Given the description of an element on the screen output the (x, y) to click on. 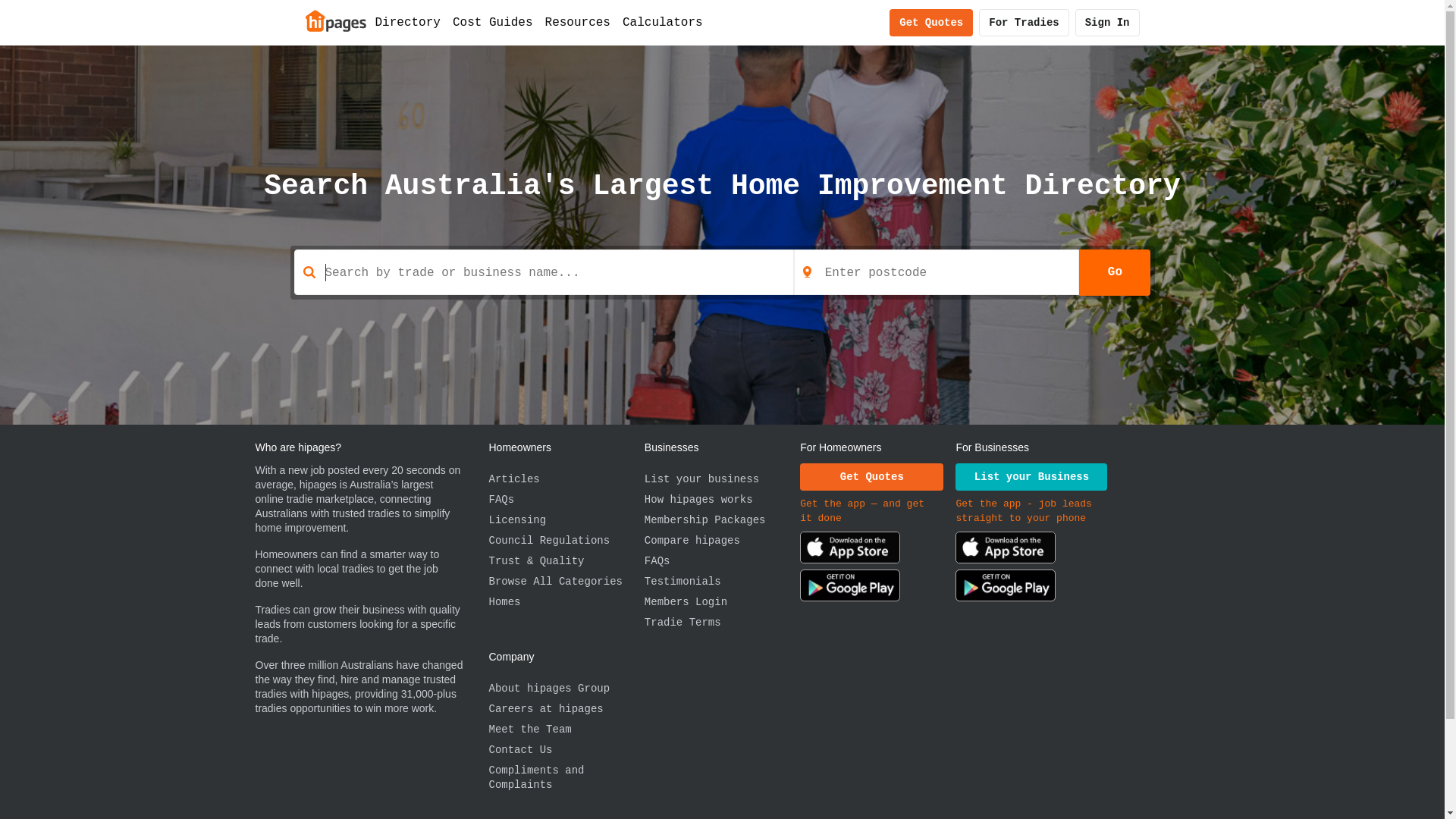
Sign In Element type: text (1107, 22)
Download the hipages app on the App Store Element type: hover (1005, 550)
Home Element type: hover (334, 20)
Download the hipages app on Google Play Element type: hover (1005, 588)
Cost Guides Element type: text (492, 22)
Directory Element type: text (406, 22)
Go Element type: text (1114, 271)
How hipages works Element type: text (722, 499)
Licensing Element type: text (565, 520)
List your business Element type: text (722, 479)
List your Business Element type: text (1031, 476)
Browse All Categories Element type: text (565, 581)
Meet the Team Element type: text (565, 729)
Calculators Element type: text (662, 22)
Download the hipages app on Google Play Element type: hover (850, 588)
About hipages Group Element type: text (565, 688)
Articles Element type: text (565, 479)
Careers at hipages Element type: text (565, 709)
Download the hipages app on the App Store Element type: hover (850, 550)
Compare hipages Element type: text (722, 540)
Resources Element type: text (577, 22)
Testimonials Element type: text (722, 581)
Contact Us Element type: text (565, 750)
Get Quotes Element type: text (930, 22)
Membership Packages Element type: text (722, 520)
Homes Element type: text (565, 602)
Tradie Terms Element type: text (722, 622)
FAQs Element type: text (565, 499)
Council Regulations Element type: text (565, 540)
Trust & Quality Element type: text (565, 561)
Get Quotes Element type: text (871, 476)
FAQs Element type: text (722, 561)
Compliments and Complaints Element type: text (565, 777)
For Tradies Element type: text (1023, 22)
Members Login Element type: text (722, 602)
